Given the description of an element on the screen output the (x, y) to click on. 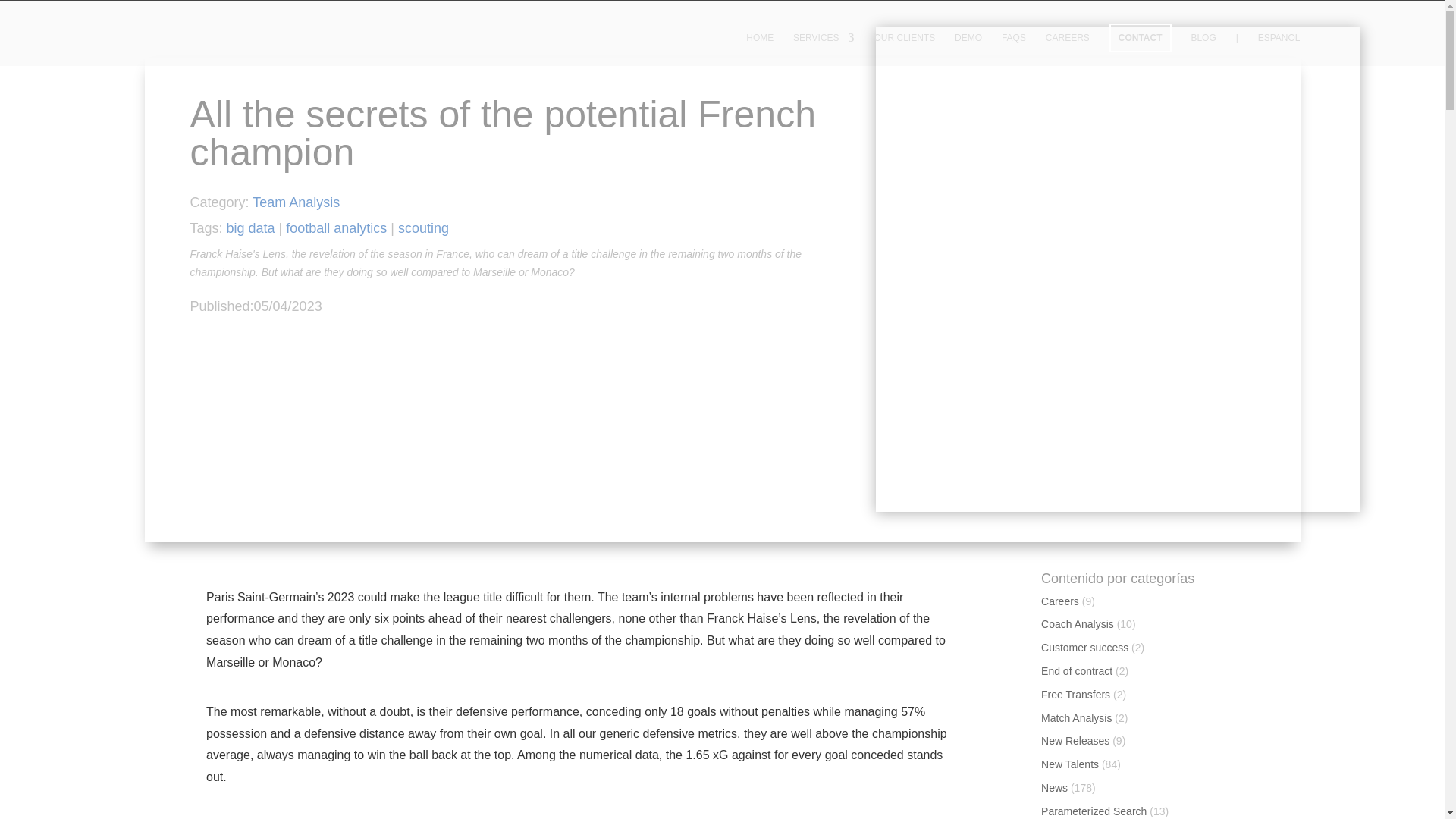
New Releases (1075, 740)
football analytics (336, 227)
News (1054, 787)
big data (251, 227)
Coach Analysis (1077, 623)
End of contract (1076, 671)
CAREERS (1067, 49)
CONTACT (1140, 37)
New Talents (1070, 764)
OUR CLIENTS (903, 49)
